Given the description of an element on the screen output the (x, y) to click on. 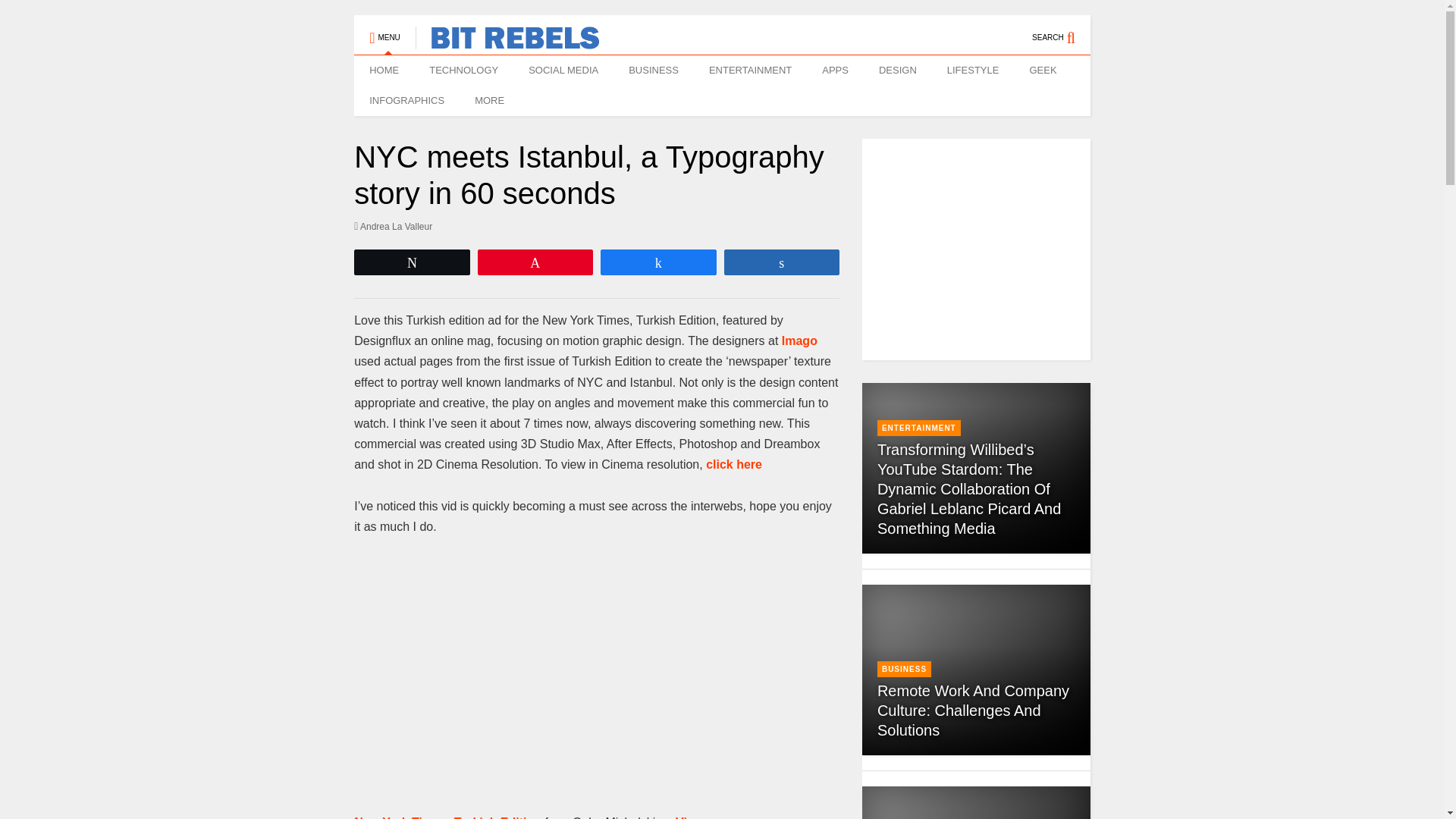
Imago (798, 340)
LIFESTYLE (972, 70)
Advertisement (991, 248)
HOME (383, 70)
SOCIAL MEDIA (562, 70)
click here (733, 463)
Andrea La Valleur (392, 226)
DESIGN (897, 70)
MENU (383, 30)
ENTERTAINMENT (750, 70)
Remote Work And Company Culture: Challenges And Solutions (972, 710)
Bit Rebels (506, 42)
GEEK (1042, 70)
APPS (834, 70)
INFOGRAPHICS (406, 100)
